Given the description of an element on the screen output the (x, y) to click on. 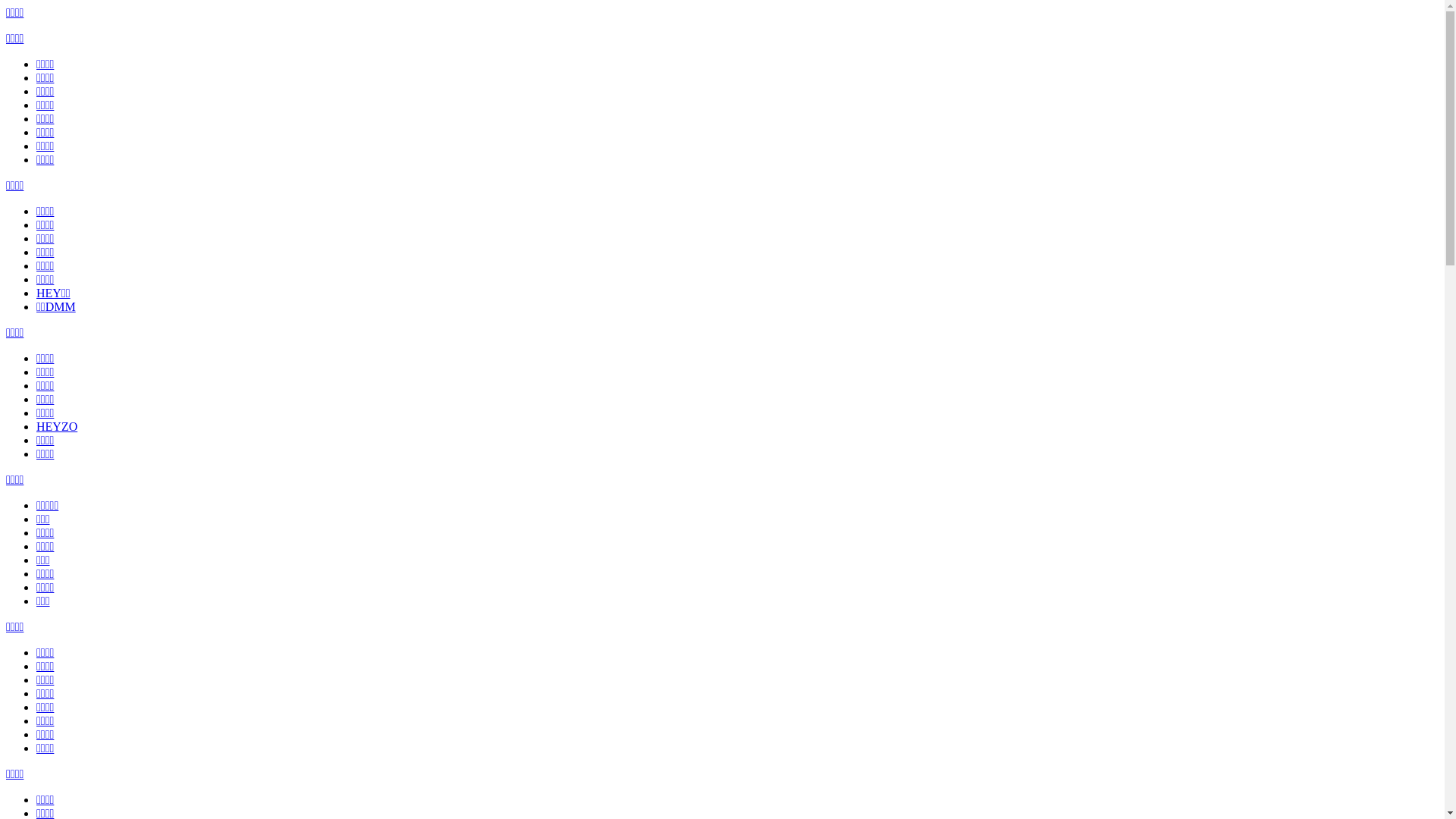
HEYZO Element type: text (56, 426)
